Given the description of an element on the screen output the (x, y) to click on. 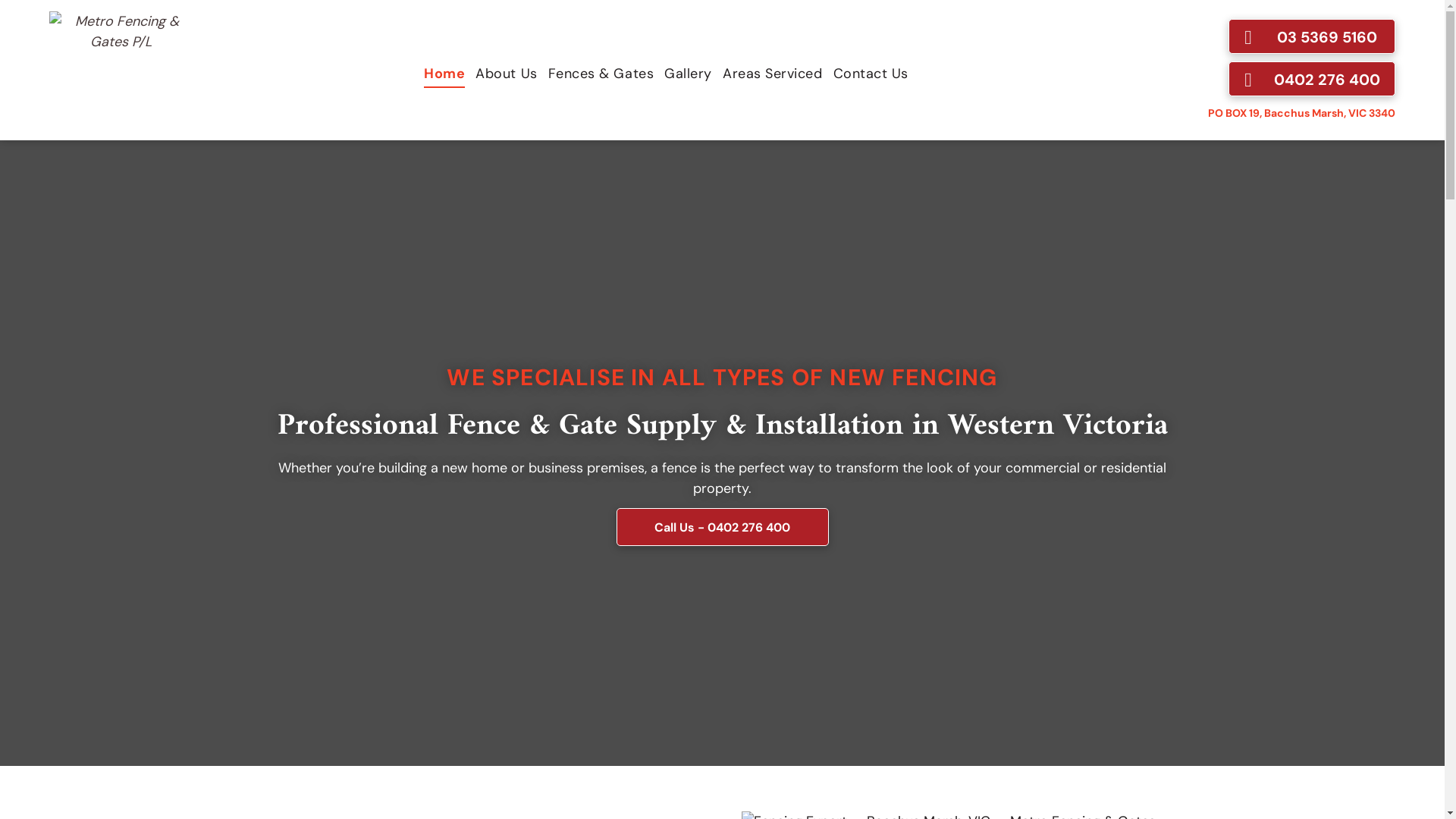
Metro Fencing & Gates P/L Element type: hover (120, 68)
Fences & Gates Element type: text (600, 73)
Call Us - 0402 276 400 Element type: text (721, 527)
Home Element type: text (444, 73)
0402 276 400 Element type: text (1311, 78)
Contact Us Element type: text (870, 73)
PO BOX 19, Bacchus Marsh, VIC 3340 Element type: text (1301, 112)
03 5369 5160 Element type: text (1311, 35)
Gallery Element type: text (687, 73)
Areas Serviced Element type: text (772, 73)
About Us Element type: text (506, 73)
